Given the description of an element on the screen output the (x, y) to click on. 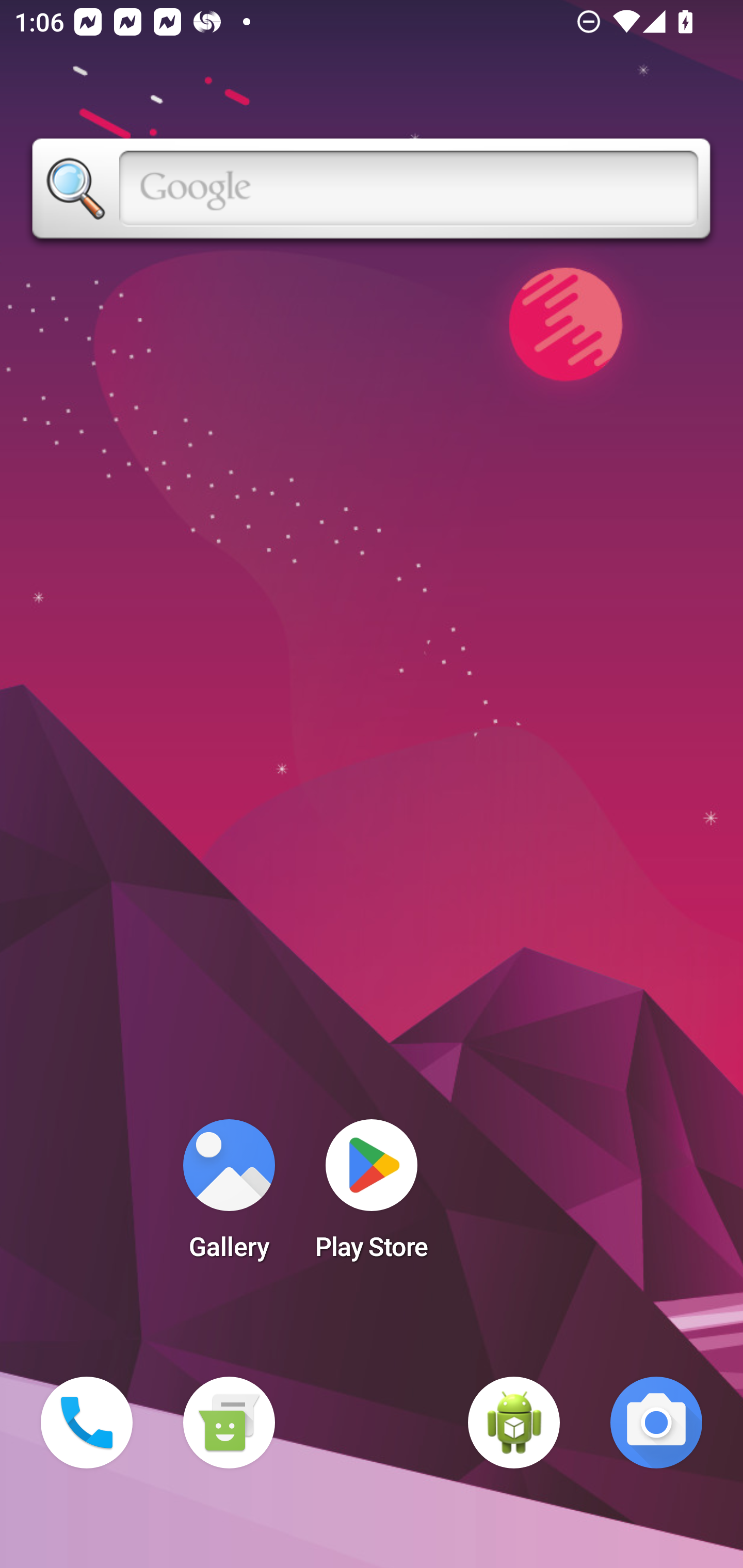
Gallery (228, 1195)
Play Store (371, 1195)
Phone (86, 1422)
Messaging (228, 1422)
WebView Browser Tester (513, 1422)
Camera (656, 1422)
